Given the description of an element on the screen output the (x, y) to click on. 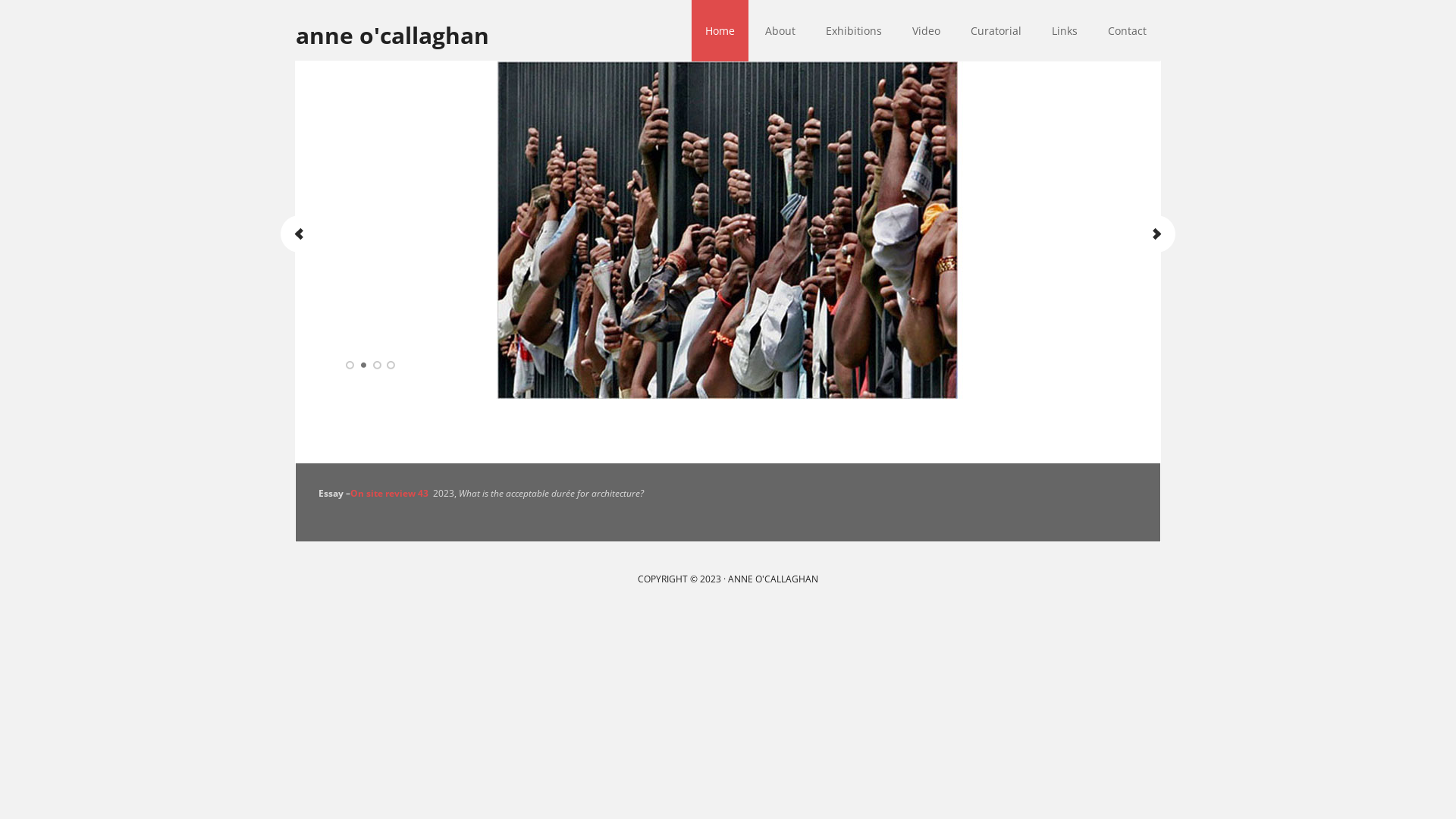
Previous Element type: text (299, 233)
Contact Element type: text (1127, 30)
Links Element type: text (1064, 30)
1 Element type: text (349, 365)
4 Element type: text (390, 365)
Exhibitions Element type: text (853, 30)
On site review 43 Element type: text (389, 492)
anne o'callaghan Element type: text (416, 25)
Video Element type: text (925, 30)
Home Element type: text (719, 30)
2 Element type: text (363, 365)
Next Element type: text (1156, 233)
Curatorial Element type: text (996, 30)
3 Element type: text (377, 365)
About Element type: text (780, 30)
